Given the description of an element on the screen output the (x, y) to click on. 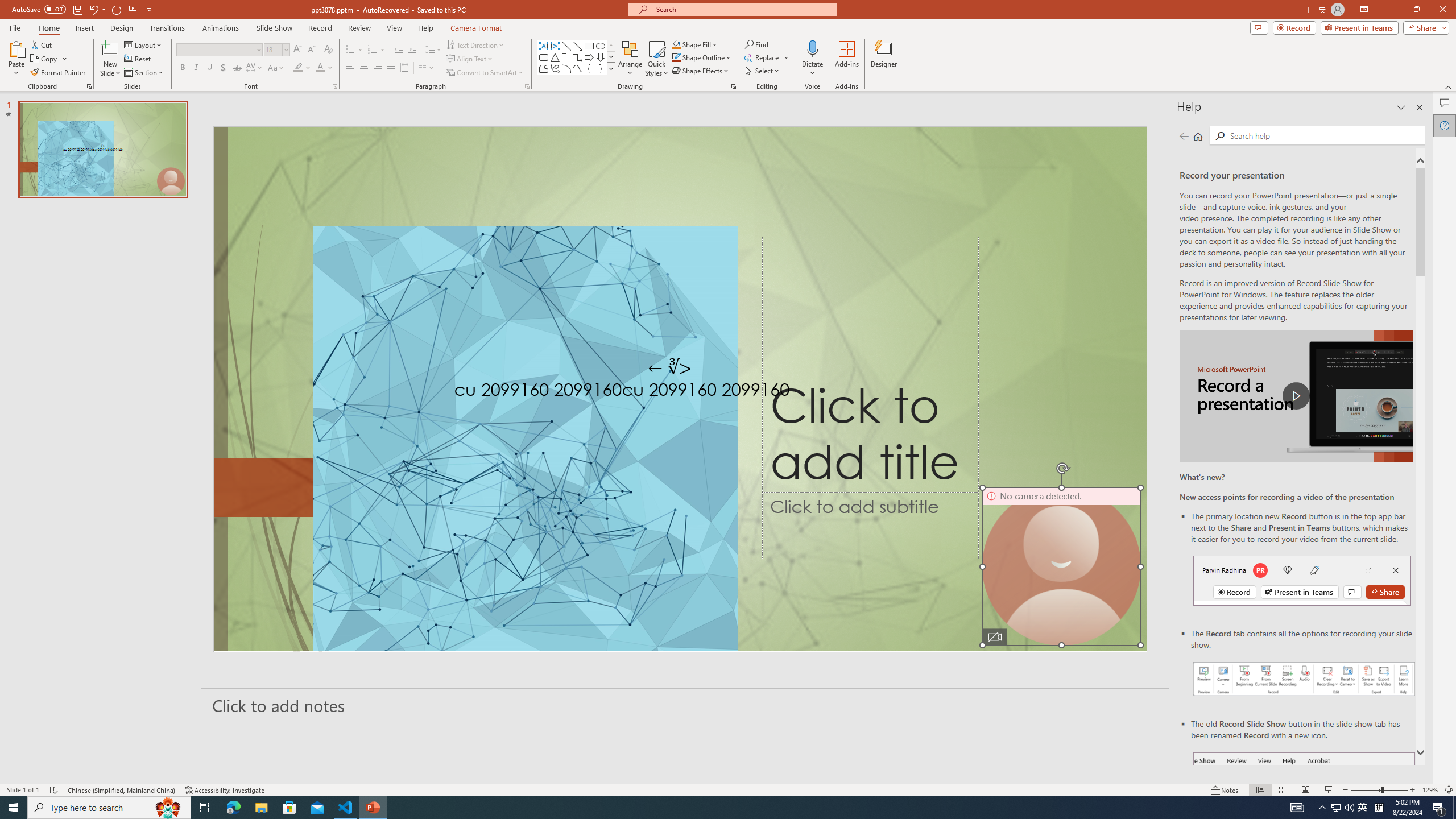
Camera 9, No camera detected. (1061, 566)
